Given the description of an element on the screen output the (x, y) to click on. 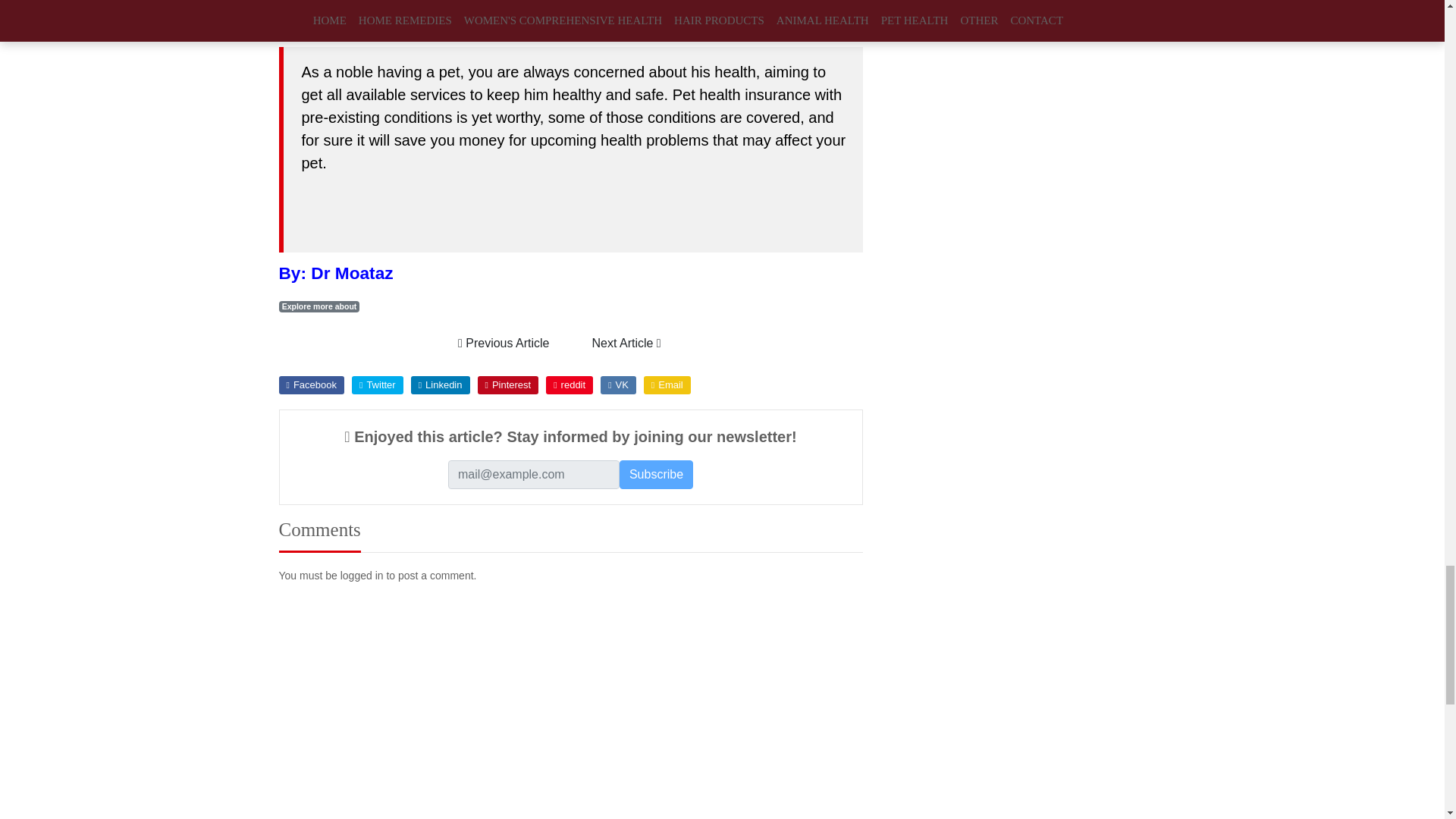
Facebook (311, 384)
Subscribe (656, 474)
Previous Article (503, 343)
Twitter (377, 384)
Next Article (626, 343)
via email (666, 384)
